Given the description of an element on the screen output the (x, y) to click on. 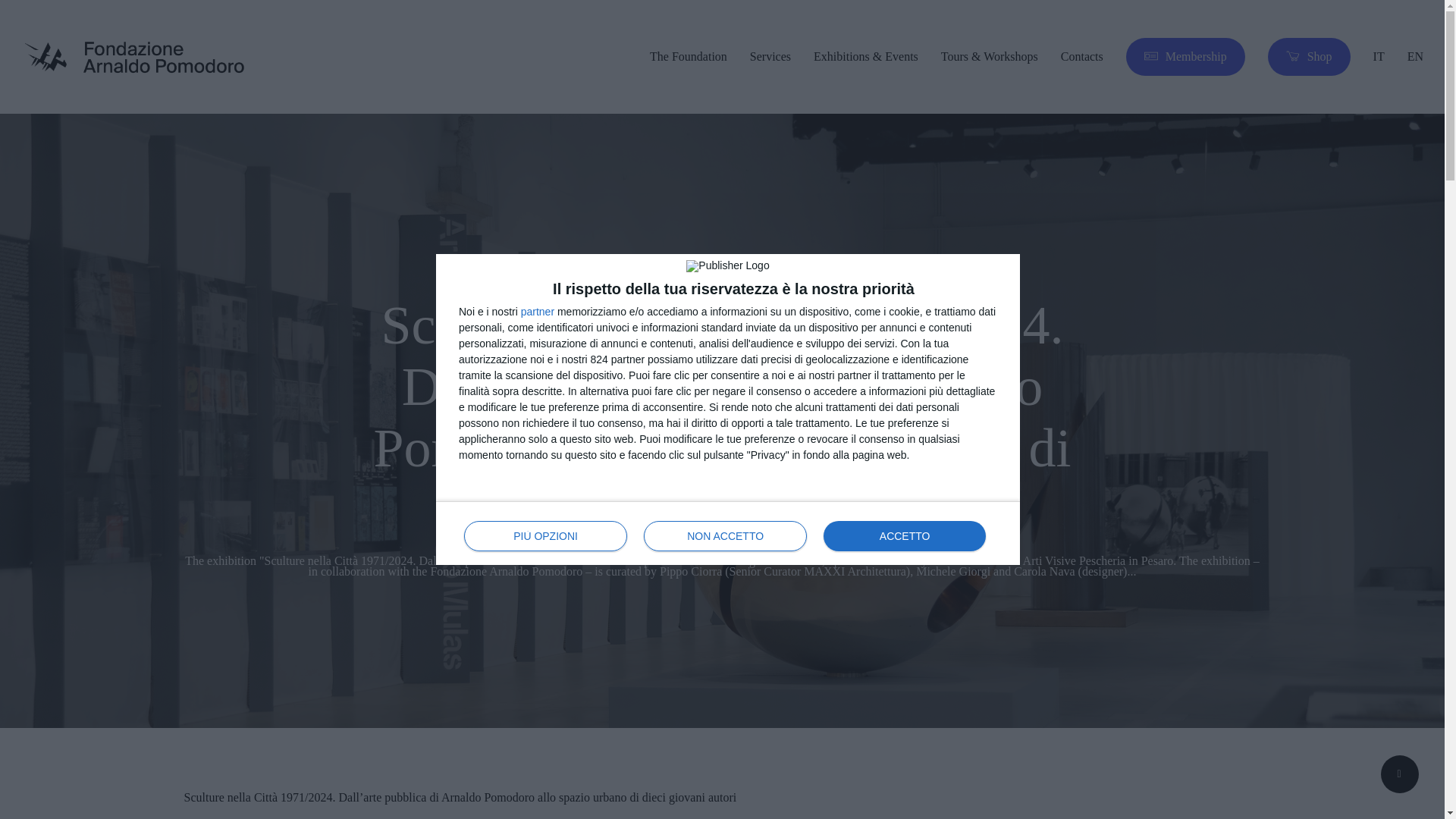
Services (769, 56)
NON ACCETTO (724, 535)
Contacts (1082, 56)
The Foundation (687, 56)
EN (1415, 56)
partner (537, 311)
ACCETTO (904, 535)
Membership (1184, 56)
Shop (1309, 56)
